Given the description of an element on the screen output the (x, y) to click on. 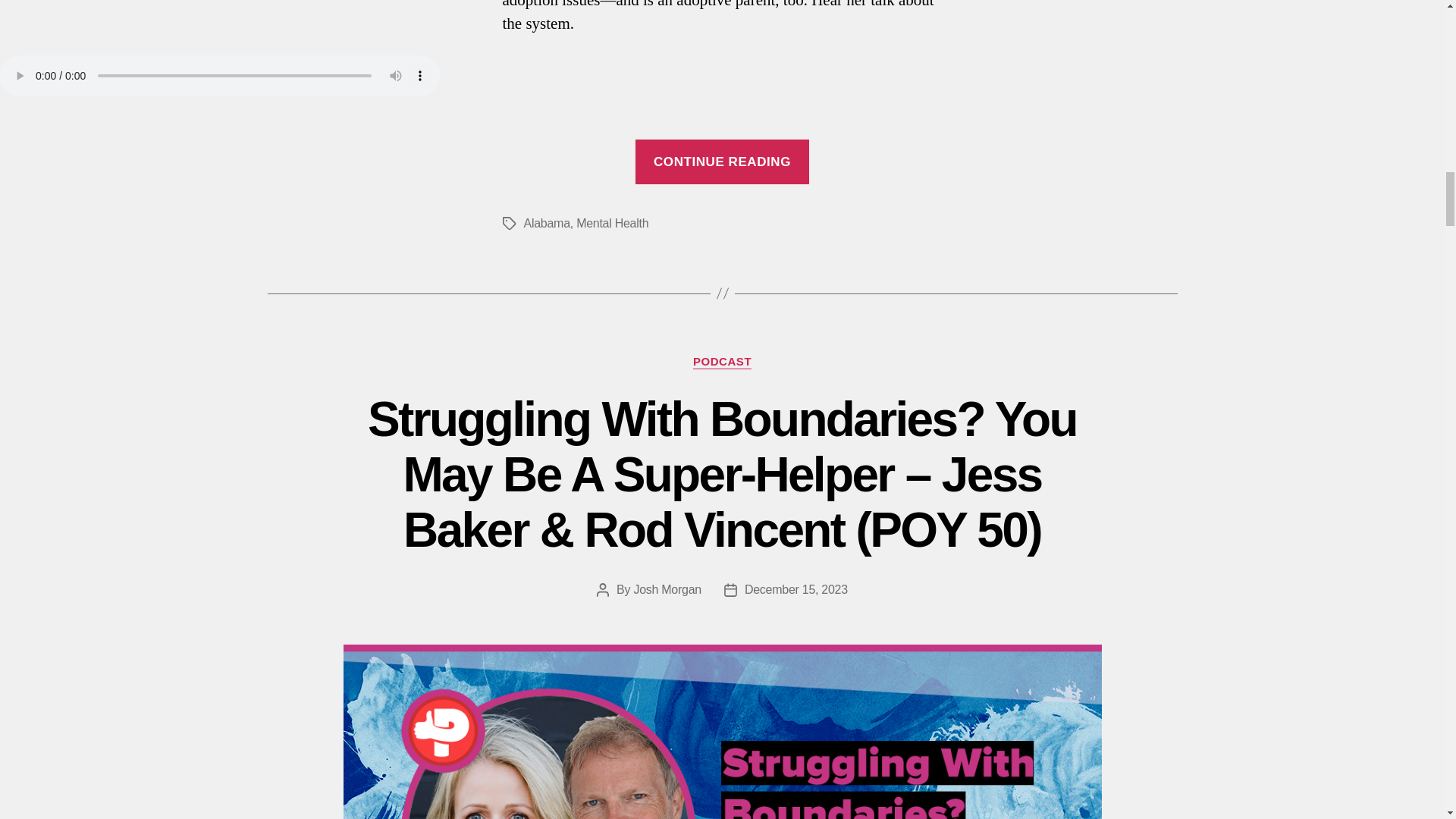
December 15, 2023 (795, 589)
Alabama (545, 223)
PODCAST (722, 362)
Mental Health (611, 223)
Josh Morgan (667, 589)
